Given the description of an element on the screen output the (x, y) to click on. 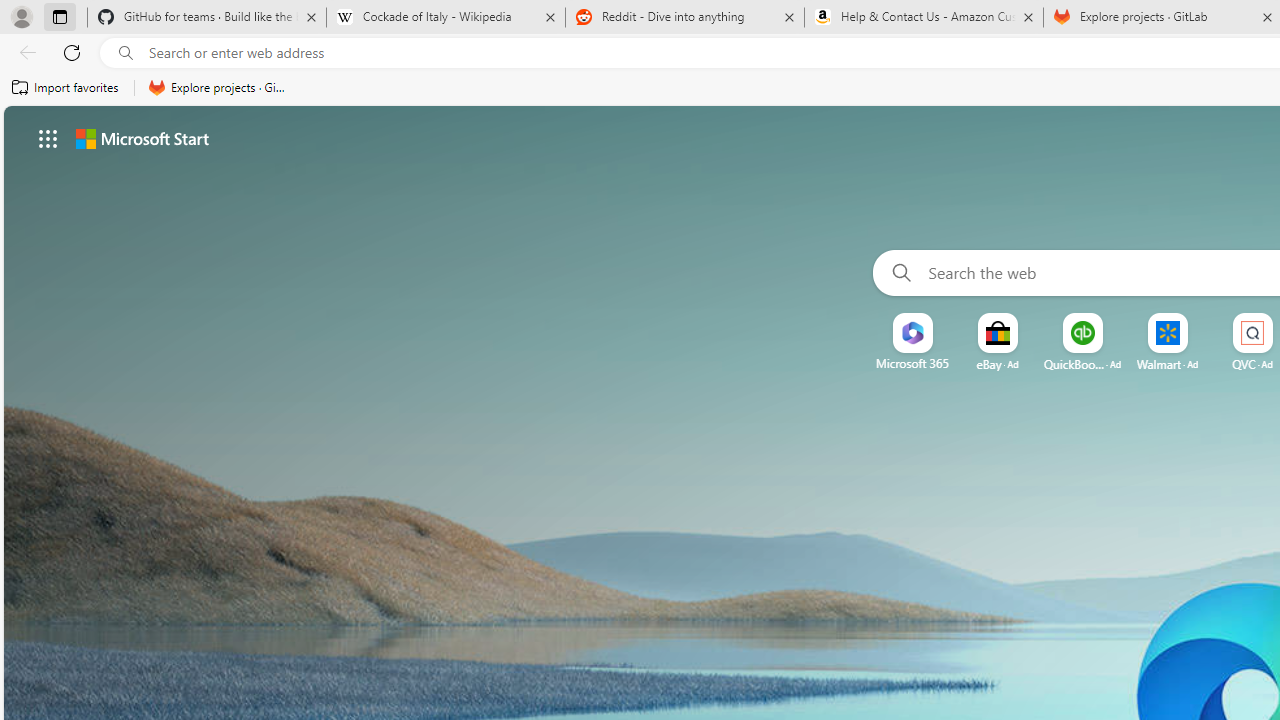
Help & Contact Us - Amazon Customer Service (924, 17)
Microsoft 365 (912, 363)
Ad (1266, 363)
App launcher (47, 138)
Reddit - Dive into anything (684, 17)
